Given the description of an element on the screen output the (x, y) to click on. 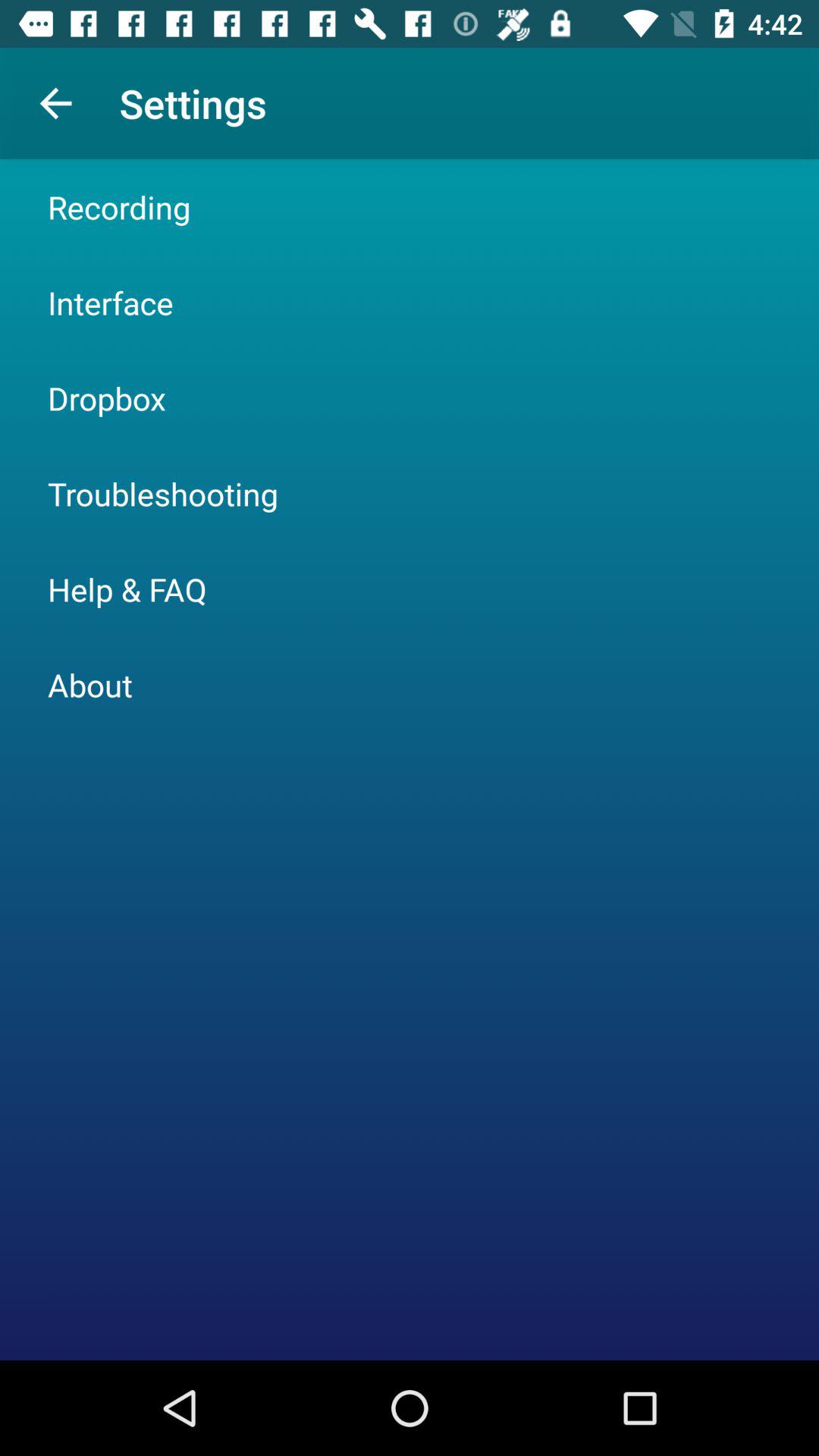
click the icon below troubleshooting icon (127, 588)
